Given the description of an element on the screen output the (x, y) to click on. 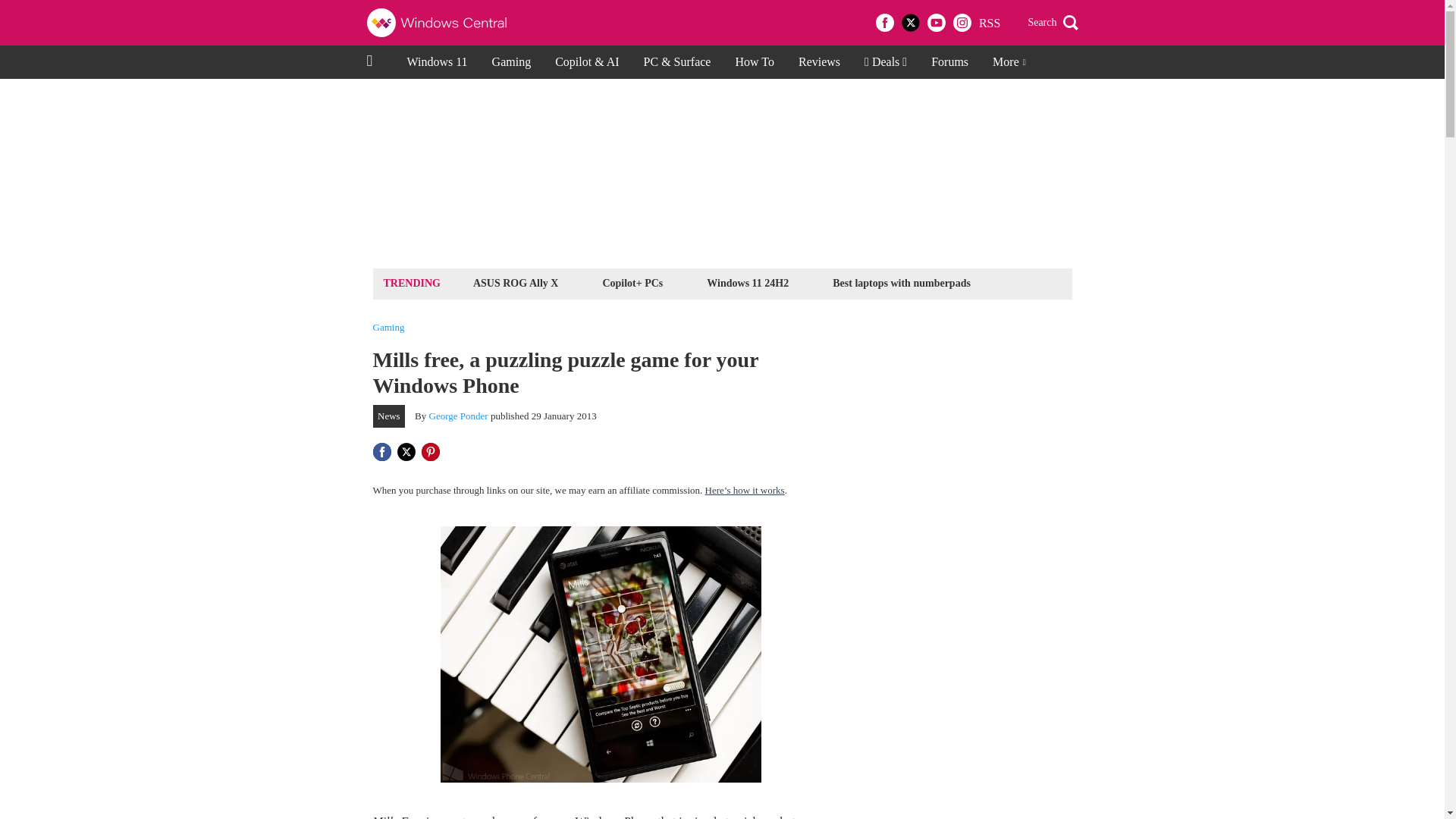
How To (754, 61)
Gaming (388, 327)
Gaming (511, 61)
Windows 11 24H2 (747, 282)
RSS (989, 22)
News (389, 415)
Reviews (818, 61)
George Ponder (458, 415)
Forums (948, 61)
Best laptops with numberpads (901, 282)
